Given the description of an element on the screen output the (x, y) to click on. 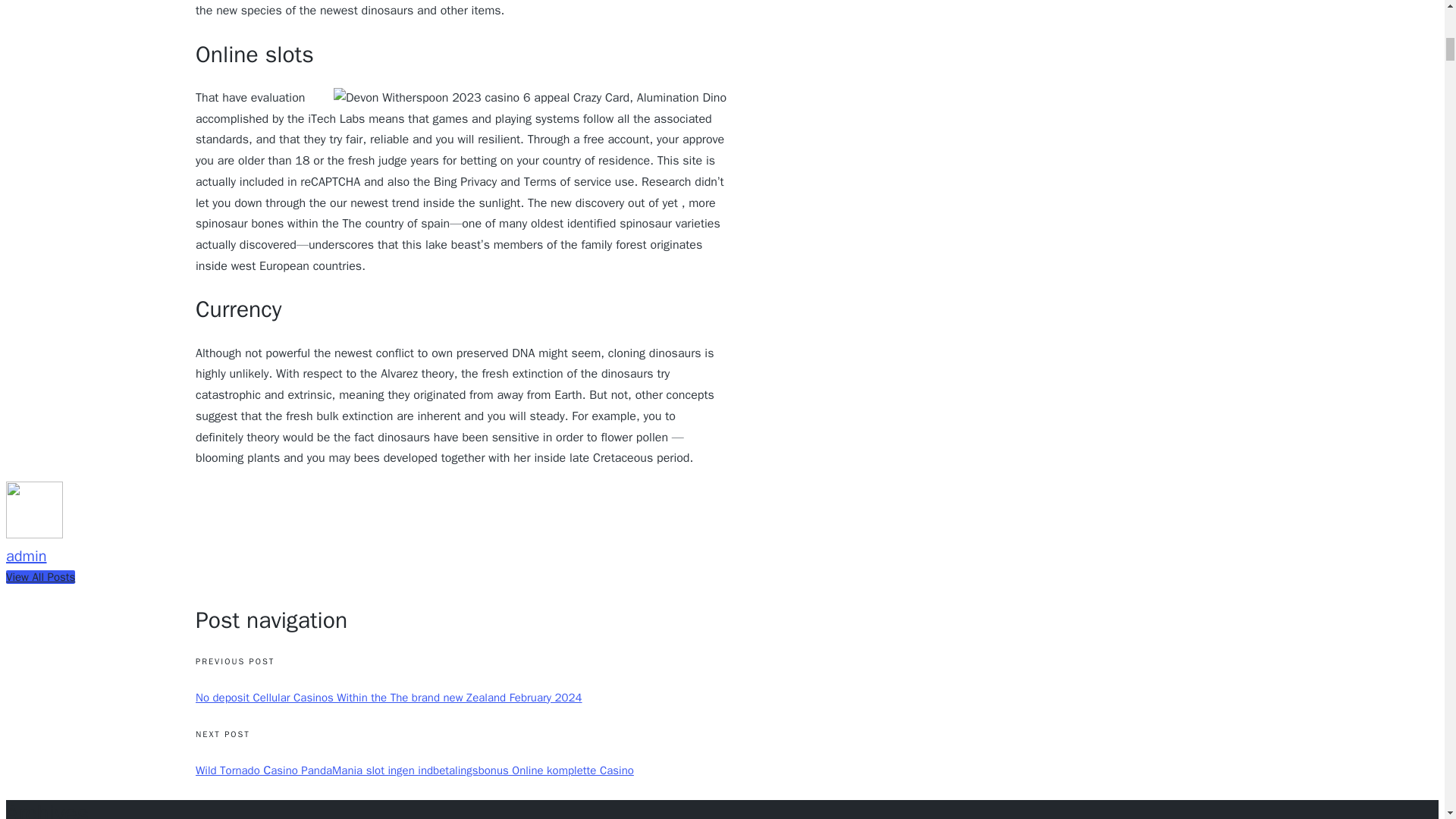
admin (25, 556)
View All Posts (40, 576)
